Given the description of an element on the screen output the (x, y) to click on. 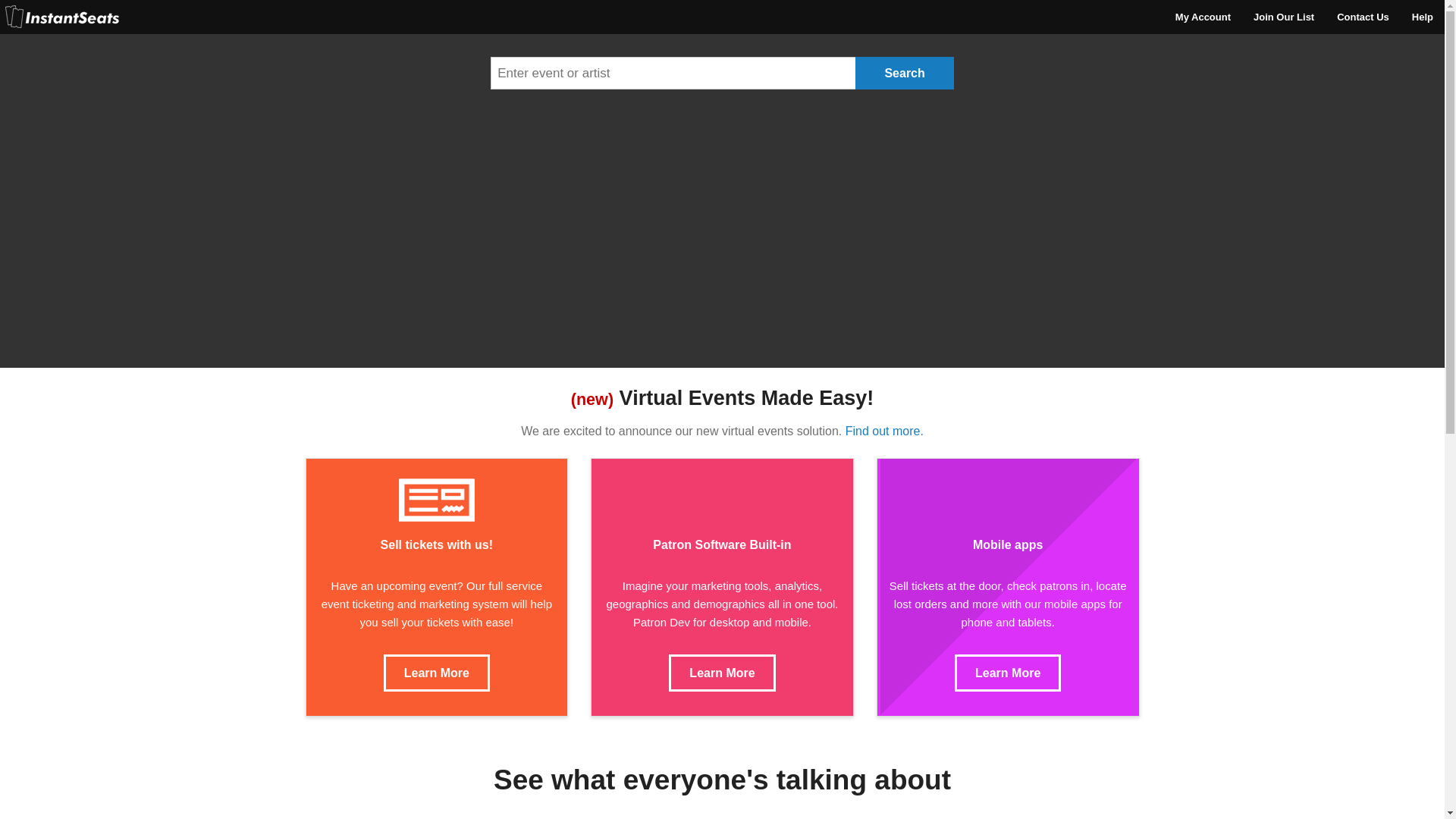
Join Our List (1282, 17)
Contact Us (1362, 17)
Search (904, 72)
Learn More (436, 672)
Search (904, 72)
Learn More (1008, 672)
Find out more. (884, 431)
My Account (1202, 17)
Learn More (721, 672)
